Given the description of an element on the screen output the (x, y) to click on. 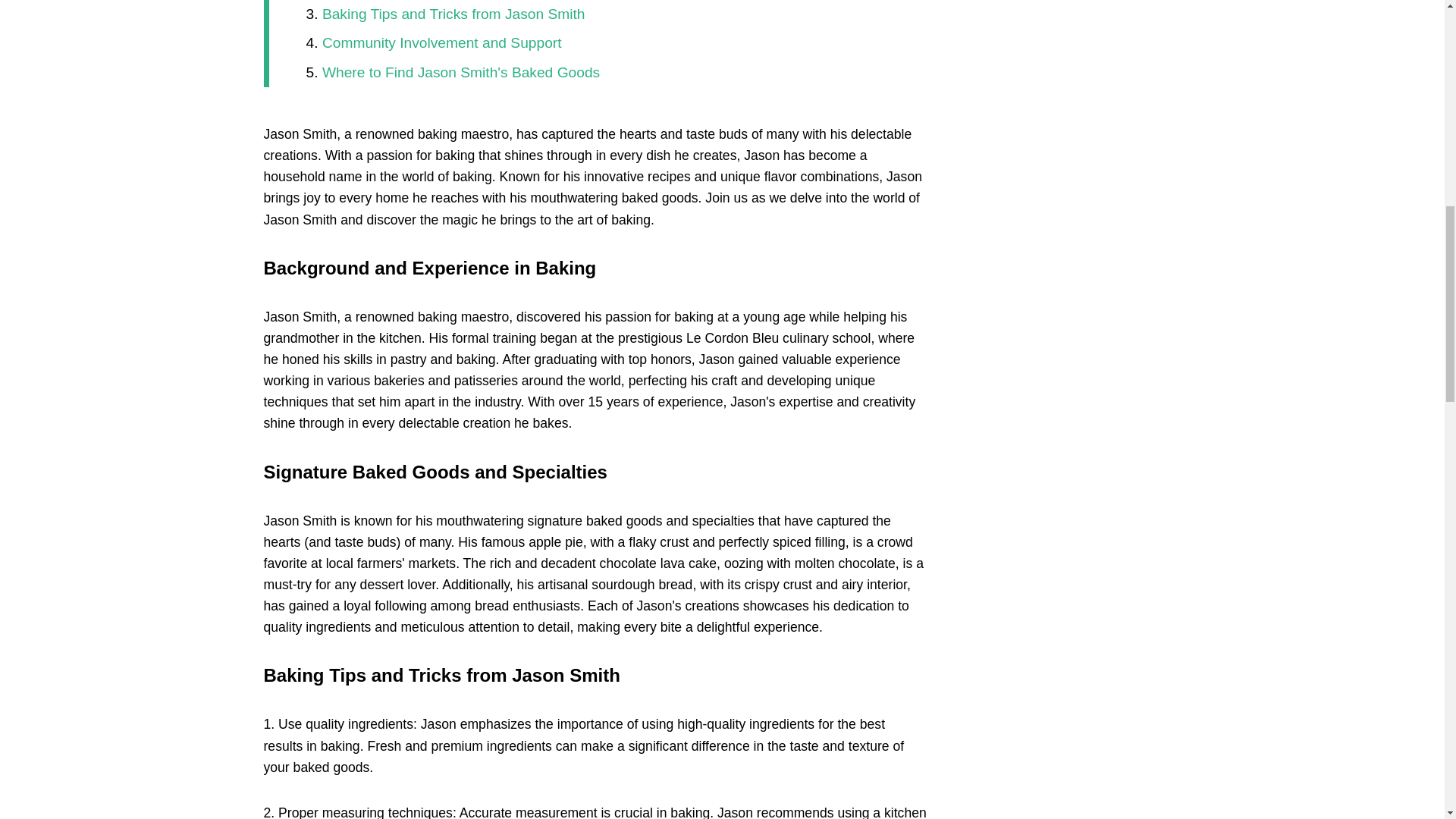
Community Involvement and Support (441, 42)
Baking Tips and Tricks from Jason Smith (453, 13)
Where to Find Jason Smith's Baked Goods (460, 72)
